Given the description of an element on the screen output the (x, y) to click on. 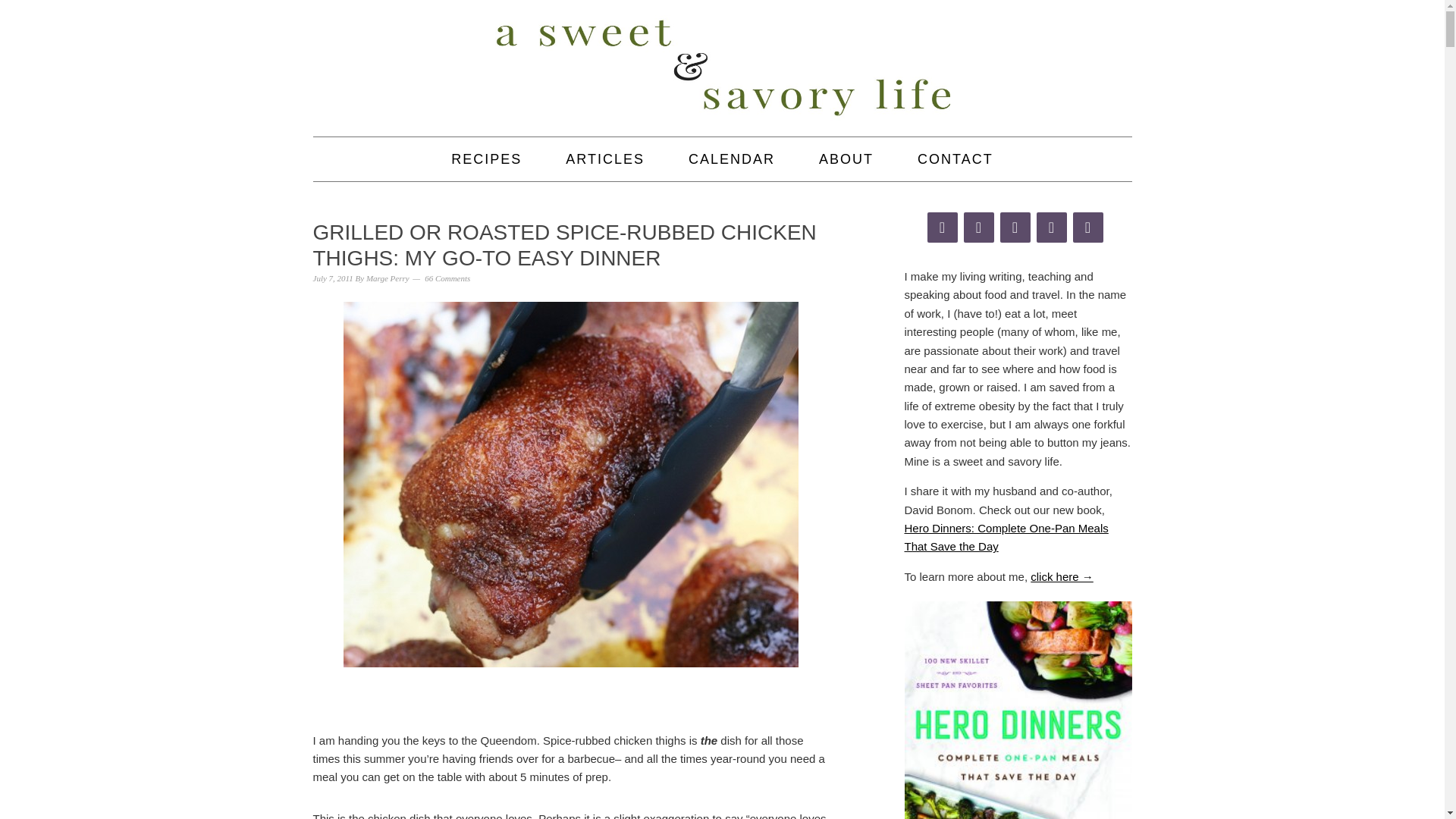
Marge Perry (387, 277)
CALENDAR (731, 158)
Pinterest (1086, 227)
MARGE PERRY'S A SWEET AND SAVORY LIFE (722, 68)
66 Comments (447, 277)
CONTACT (955, 158)
Facebook (941, 227)
RECIPES (486, 158)
Twitter (1050, 227)
ABOUT (846, 158)
ARTICLES (604, 158)
Instagram (1013, 227)
